Given the description of an element on the screen output the (x, y) to click on. 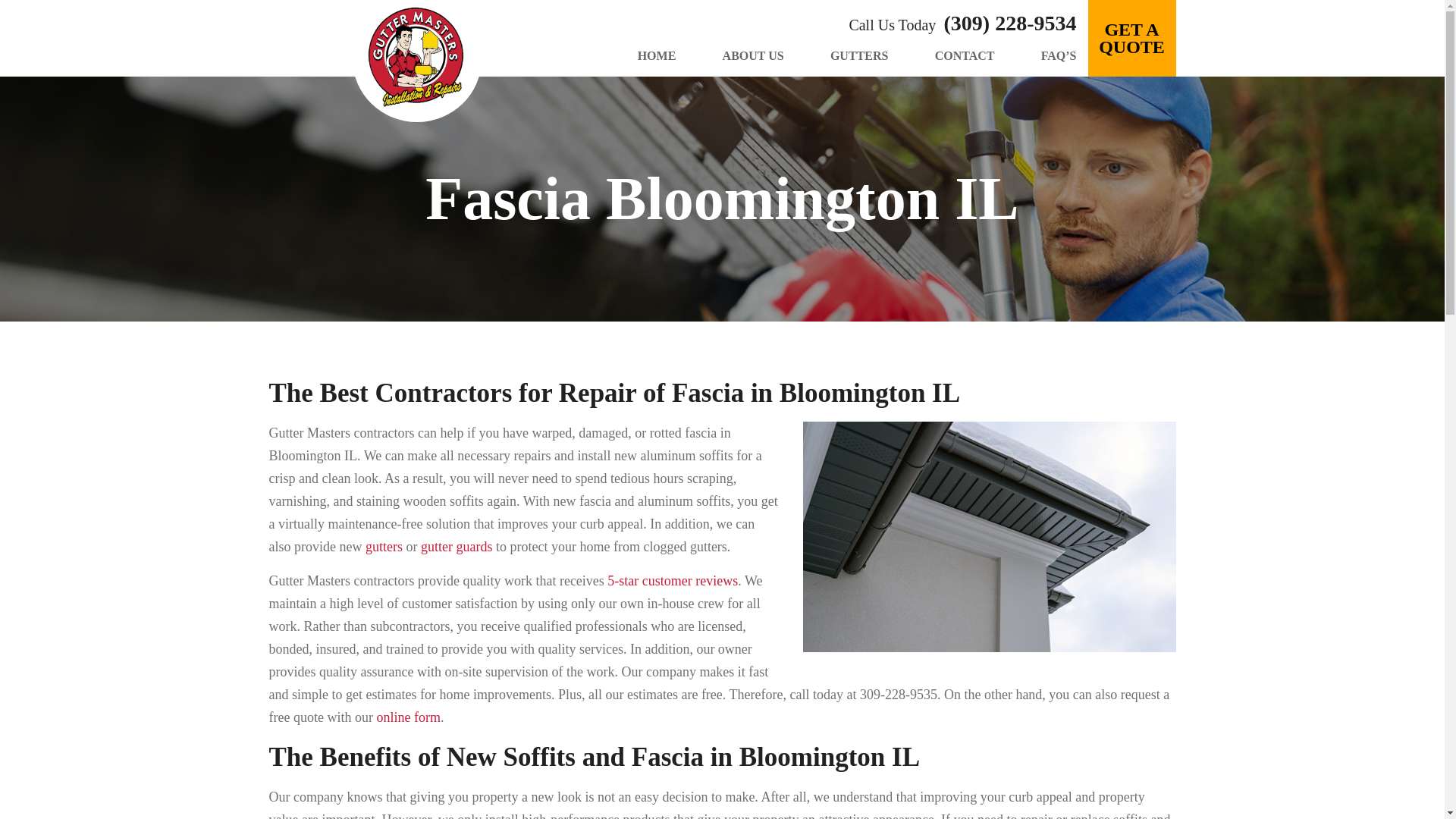
gutter guards (456, 546)
online form (407, 717)
GUTTERS (858, 55)
CONTACT (964, 55)
GET A QUOTE (1131, 38)
5-star customer reviews (672, 580)
HOME (657, 55)
gutters (384, 546)
ABOUT US (753, 55)
